Given the description of an element on the screen output the (x, y) to click on. 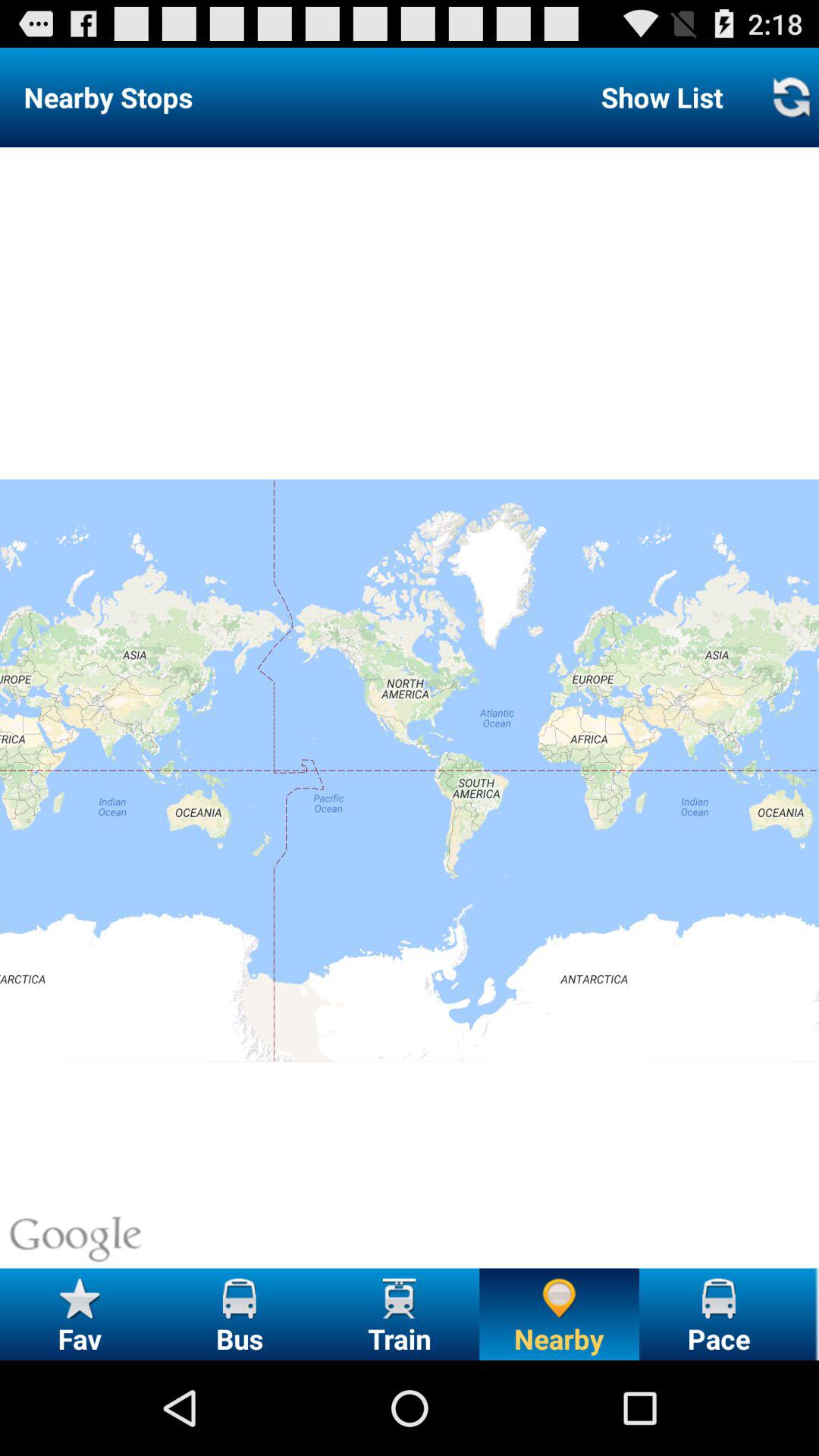
turn on the icon next to the show list icon (791, 97)
